Given the description of an element on the screen output the (x, y) to click on. 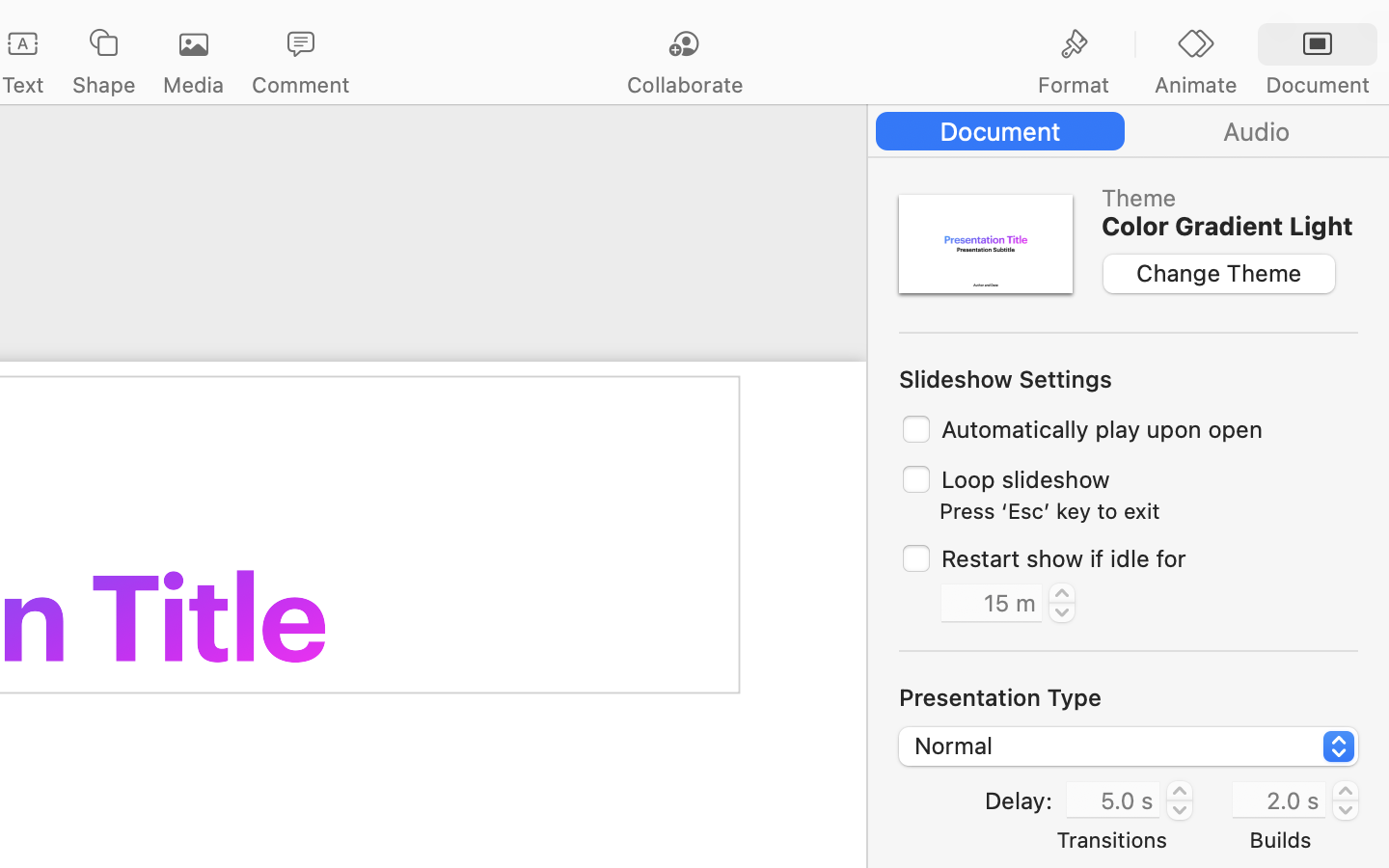
2.0 s Element type: AXTextField (1278, 798)
5.0 Element type: AXIncrementor (1179, 800)
Document Element type: AXStaticText (1316, 84)
